Given the description of an element on the screen output the (x, y) to click on. 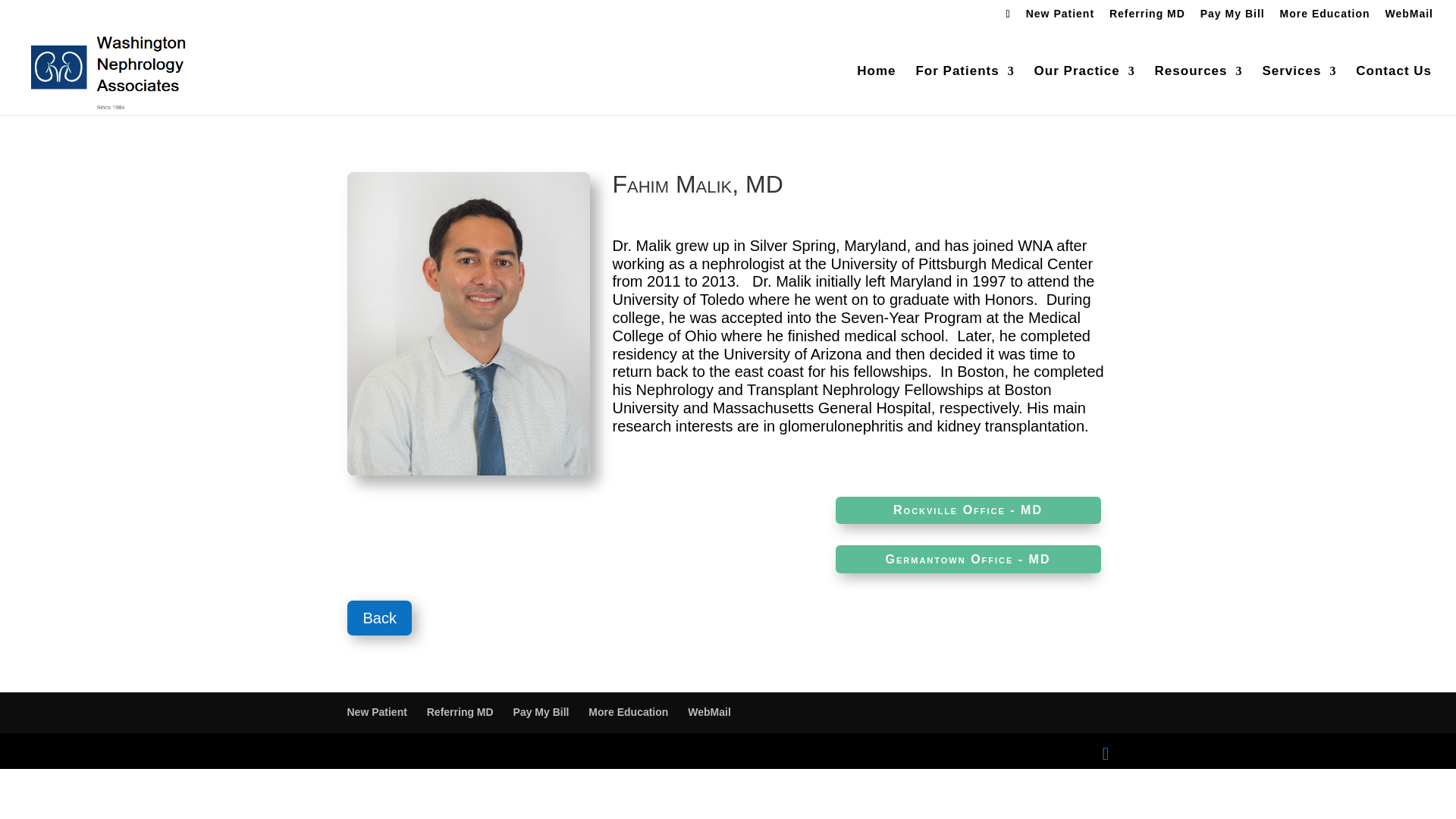
Contact Us (1393, 90)
For Patients (964, 90)
New Patient (1060, 16)
Our Practice (1084, 90)
Referring MD (1147, 16)
More Education (1324, 16)
Resources (1198, 90)
Pay My Bill (1232, 16)
WebMail (1408, 16)
Services (1299, 90)
